Given the description of an element on the screen output the (x, y) to click on. 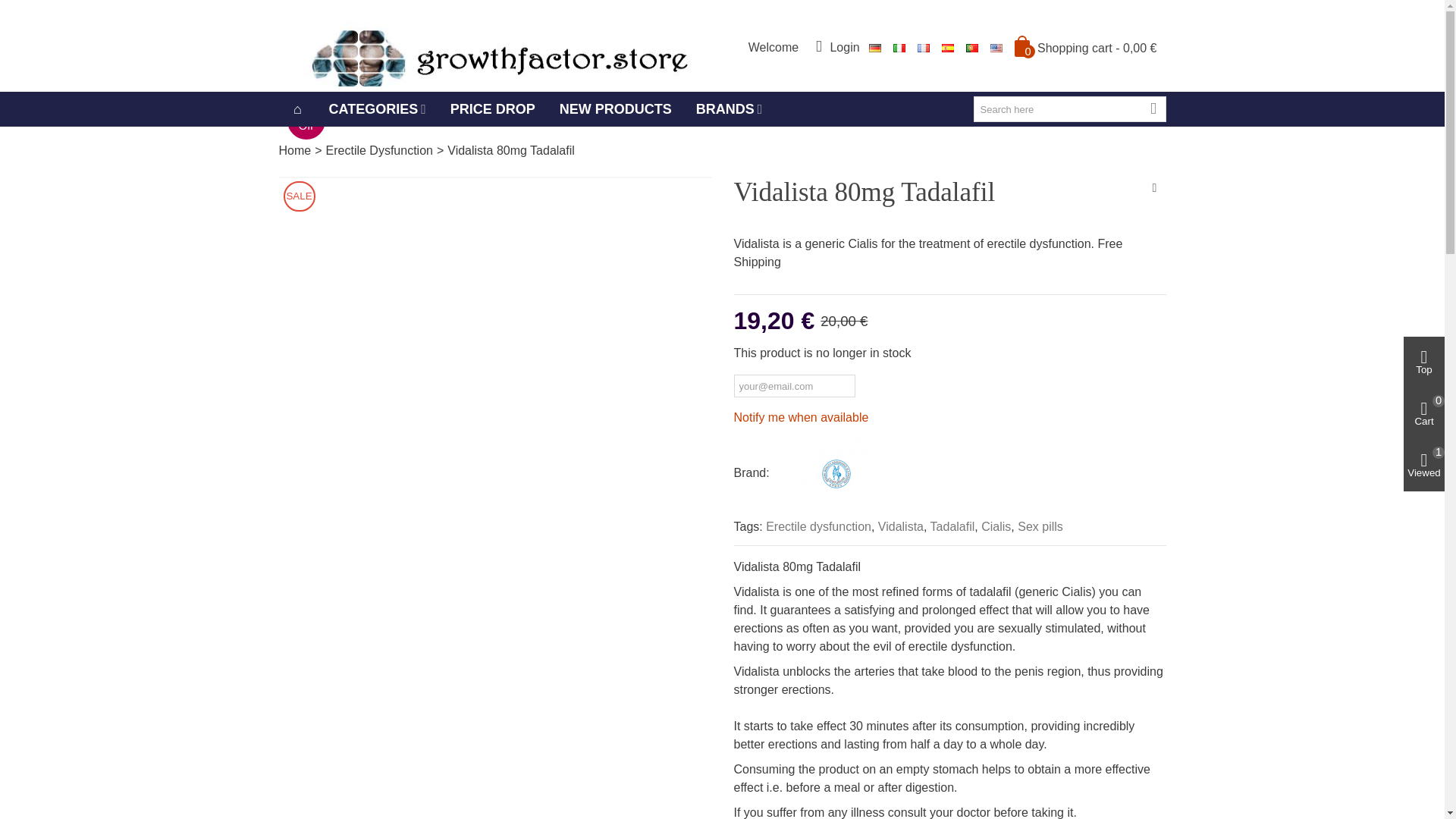
BRANDS (729, 108)
Home (295, 150)
NEW PRODUCTS (615, 108)
PRICE DROP (492, 108)
Login (837, 45)
View my shopping cart (1085, 47)
Growthfactor.store (492, 44)
Log in to your customer account (837, 45)
CATEGORIES (377, 108)
Categories (377, 108)
